Given the description of an element on the screen output the (x, y) to click on. 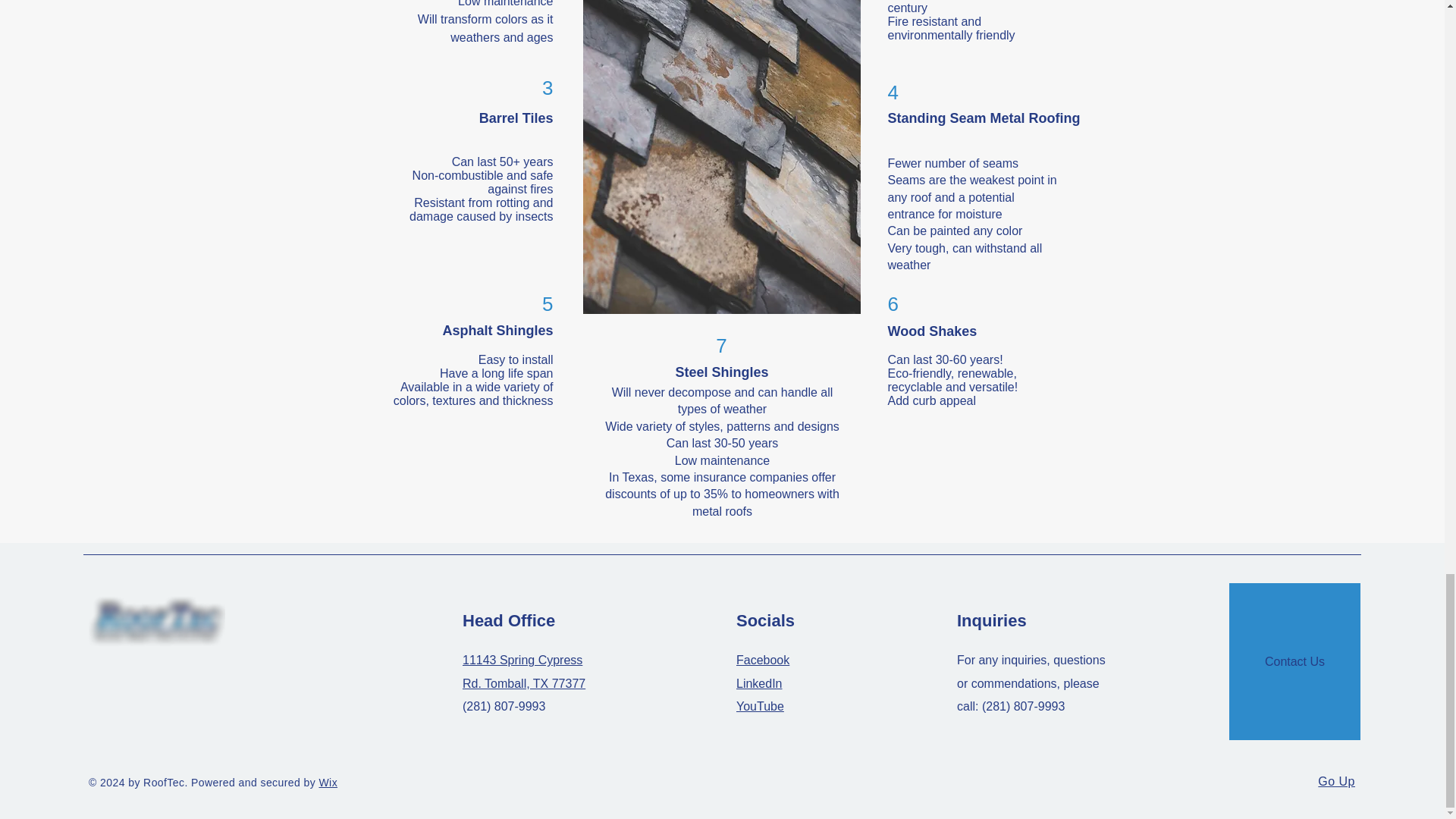
11143 Spring Cypress Rd. Tomball, TX 77377 (524, 671)
Go Up (1336, 780)
Facebook (762, 659)
Wix (327, 782)
YouTube (760, 706)
LinkedIn (759, 683)
